Given the description of an element on the screen output the (x, y) to click on. 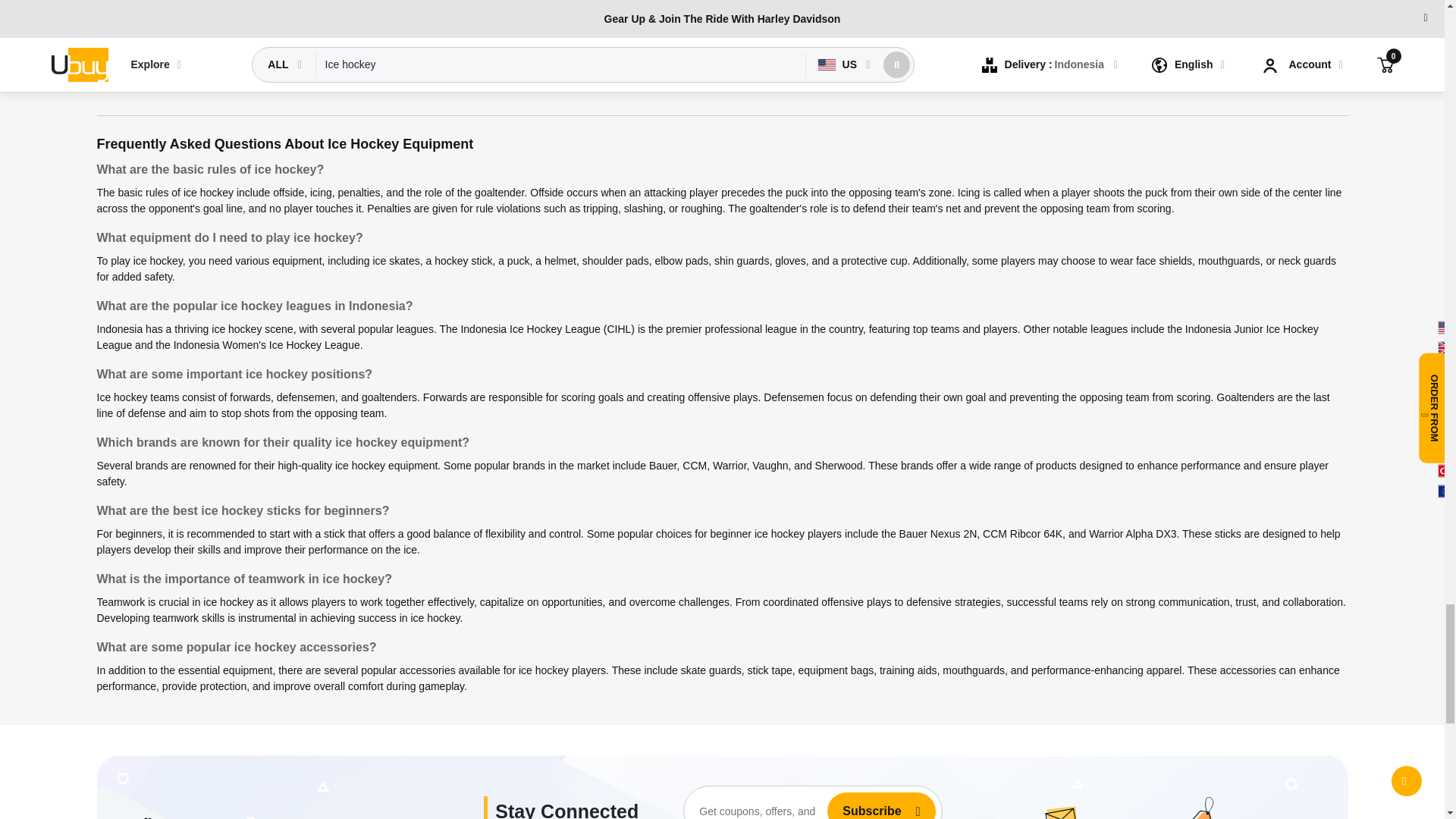
Subscribe (865, 807)
